Given the description of an element on the screen output the (x, y) to click on. 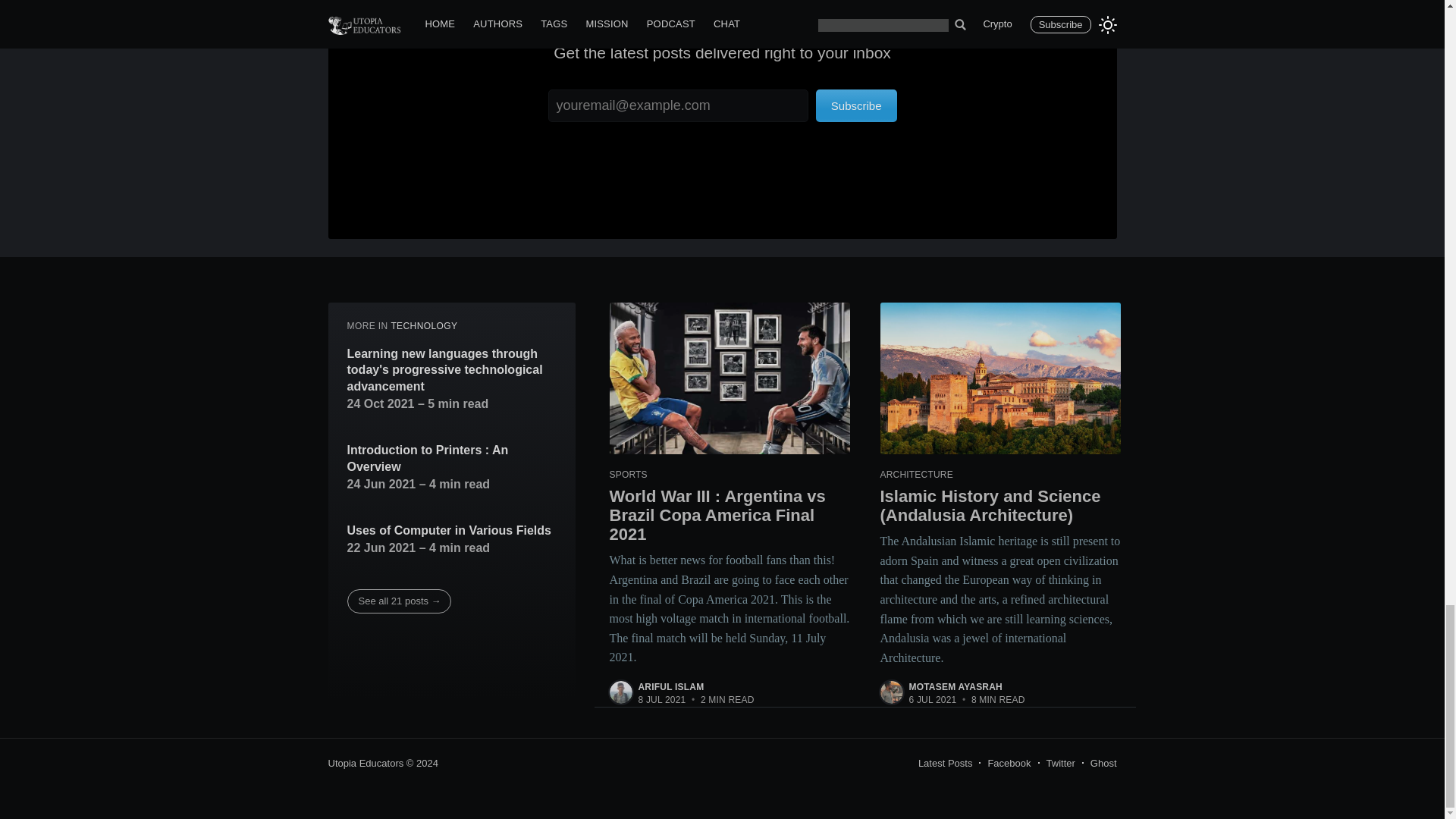
ARIFUL ISLAM (671, 686)
Utopia Educators (365, 763)
Latest Posts (945, 763)
MOTASEM AYASRAH (954, 686)
TECHNOLOGY (423, 326)
Introduction to Printers : An Overview (451, 458)
Subscribe (855, 105)
Uses of Computer in Various Fields (449, 530)
